Given the description of an element on the screen output the (x, y) to click on. 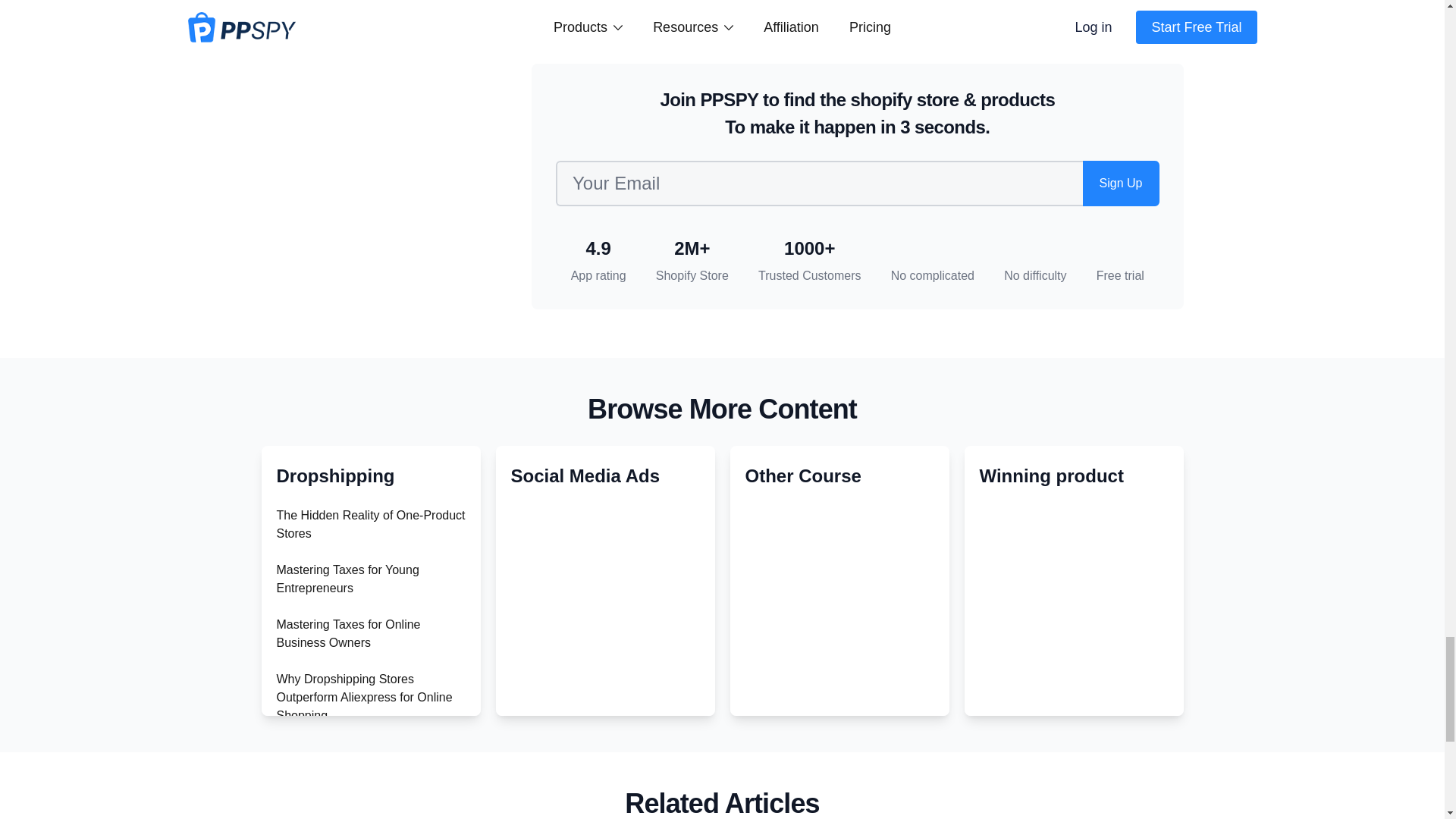
Mastering Taxes for Young Entrepreneurs (347, 578)
The Hidden Reality of One-Product Stores (370, 523)
Mastering Taxes for Online Business Owners (348, 633)
